Given the description of an element on the screen output the (x, y) to click on. 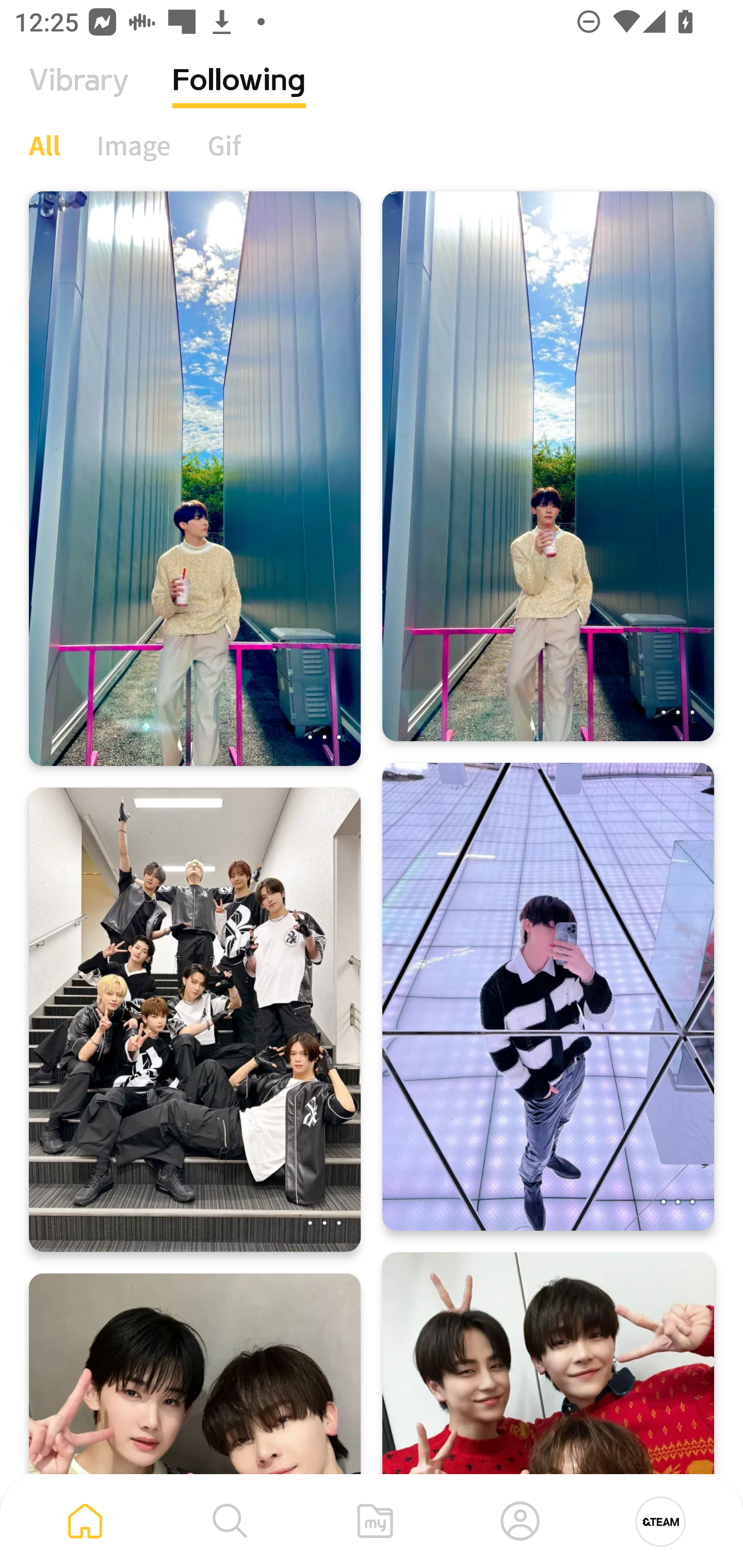
Vibrary (78, 95)
Following (239, 95)
All (44, 145)
Image (133, 145)
Gif (223, 145)
